Given the description of an element on the screen output the (x, y) to click on. 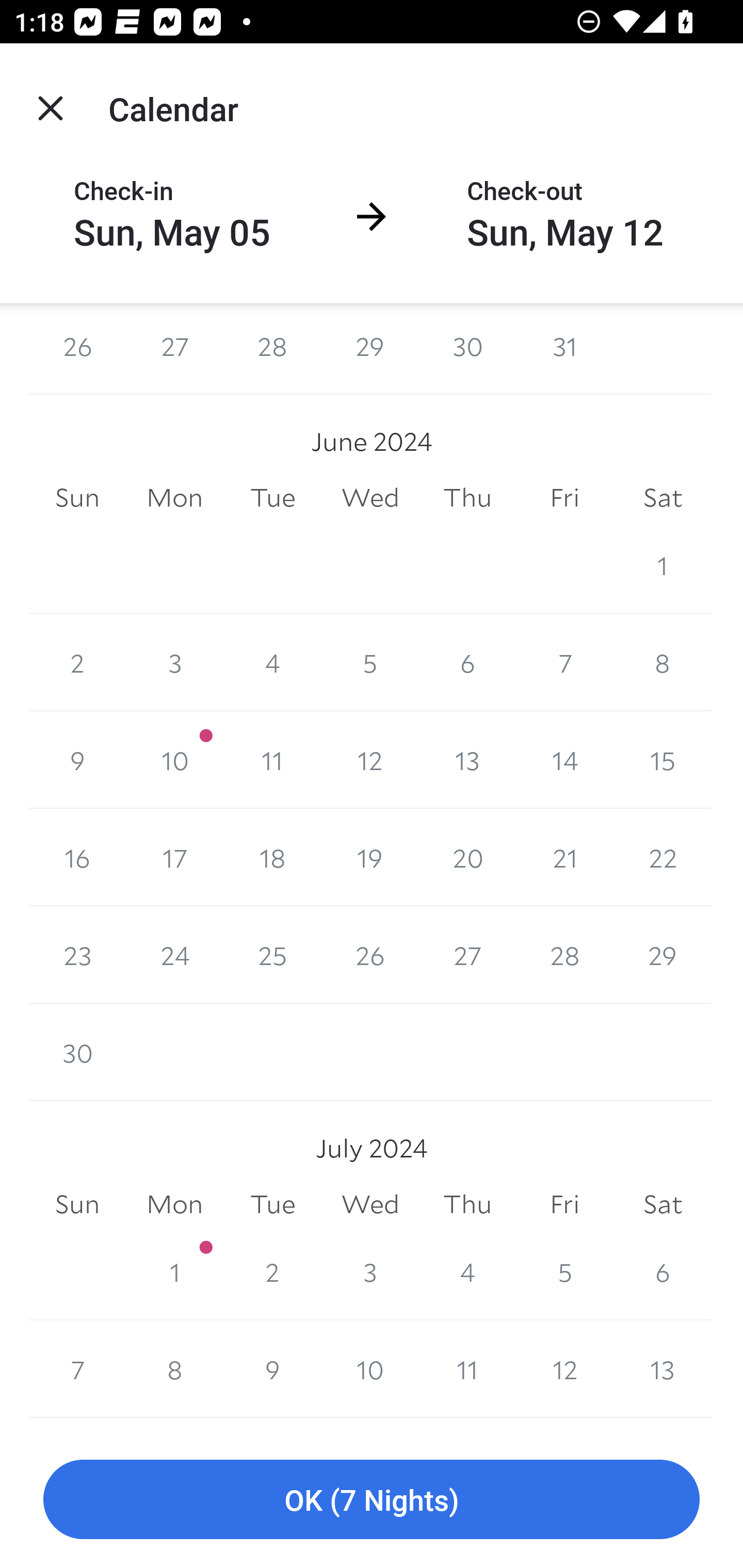
26 26 May 2024 (77, 348)
27 27 May 2024 (174, 348)
28 28 May 2024 (272, 348)
29 29 May 2024 (370, 348)
30 30 May 2024 (467, 348)
31 31 May 2024 (564, 348)
Sun (77, 497)
Mon (174, 497)
Tue (272, 497)
Wed (370, 497)
Thu (467, 497)
Fri (564, 497)
Sat (662, 497)
1 1 June 2024 (662, 564)
2 2 June 2024 (77, 662)
3 3 June 2024 (174, 662)
4 4 June 2024 (272, 662)
5 5 June 2024 (370, 662)
6 6 June 2024 (467, 662)
7 7 June 2024 (564, 662)
8 8 June 2024 (662, 662)
9 9 June 2024 (77, 760)
10 10 June 2024 (174, 760)
11 11 June 2024 (272, 760)
12 12 June 2024 (370, 760)
13 13 June 2024 (467, 760)
14 14 June 2024 (564, 760)
15 15 June 2024 (662, 760)
16 16 June 2024 (77, 857)
17 17 June 2024 (174, 857)
18 18 June 2024 (272, 857)
19 19 June 2024 (370, 857)
20 20 June 2024 (467, 857)
21 21 June 2024 (564, 857)
22 22 June 2024 (662, 857)
23 23 June 2024 (77, 954)
24 24 June 2024 (174, 954)
25 25 June 2024 (272, 954)
26 26 June 2024 (370, 954)
27 27 June 2024 (467, 954)
28 28 June 2024 (564, 954)
29 29 June 2024 (662, 954)
30 30 June 2024 (77, 1051)
Sun (77, 1204)
Mon (174, 1204)
Tue (272, 1204)
Wed (370, 1204)
Thu (467, 1204)
Fri (564, 1204)
Sat (662, 1204)
1 1 July 2024 (174, 1271)
2 2 July 2024 (272, 1271)
3 3 July 2024 (370, 1271)
4 4 July 2024 (467, 1271)
5 5 July 2024 (564, 1271)
6 6 July 2024 (662, 1271)
7 7 July 2024 (77, 1368)
8 8 July 2024 (174, 1368)
9 9 July 2024 (272, 1368)
10 10 July 2024 (370, 1368)
11 11 July 2024 (467, 1368)
12 12 July 2024 (564, 1368)
13 13 July 2024 (662, 1368)
OK (7 Nights) (371, 1499)
